Given the description of an element on the screen output the (x, y) to click on. 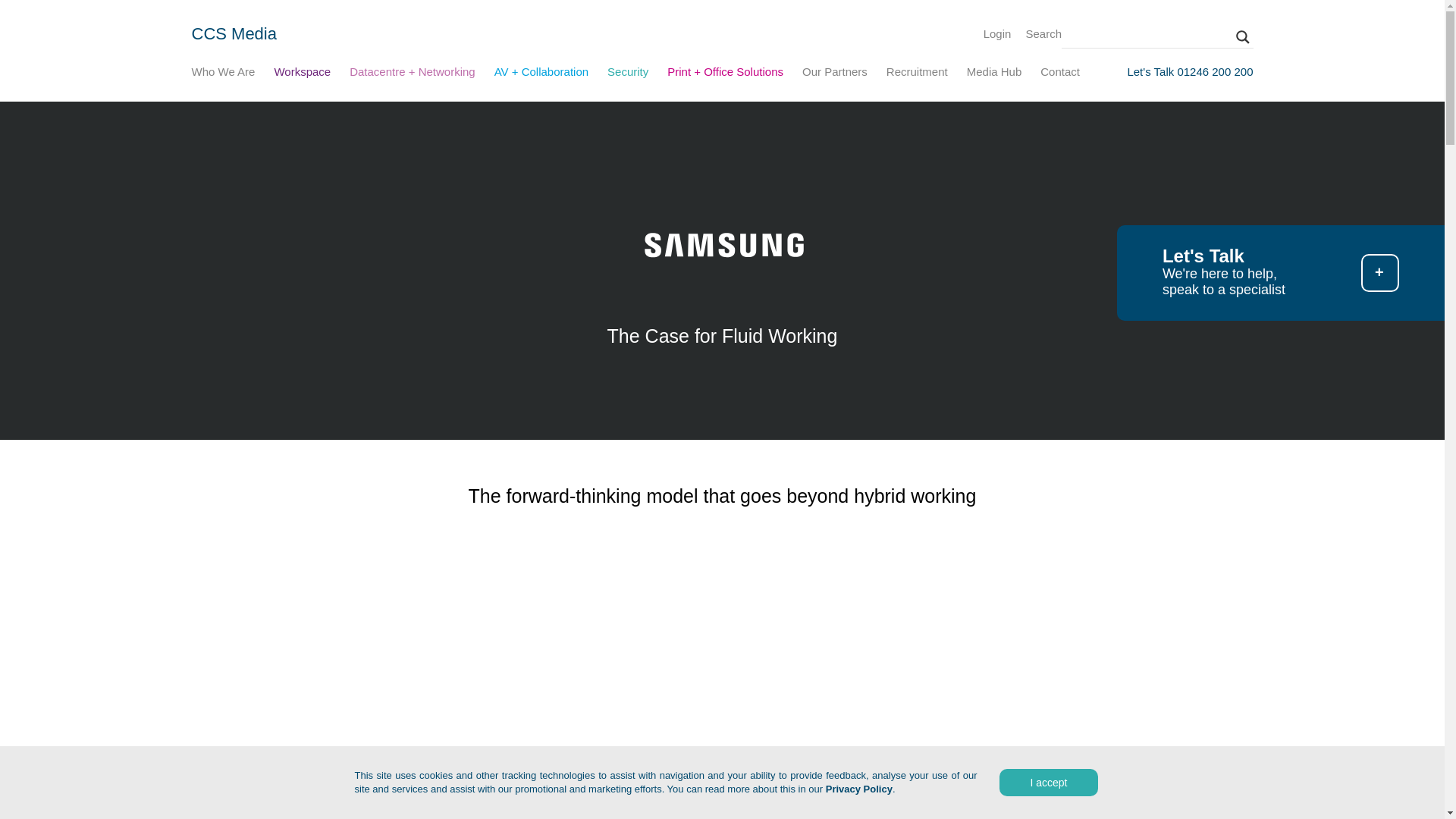
CCS Media (233, 33)
Workspace (301, 73)
Who We Are (222, 73)
Login (997, 33)
Security (627, 73)
Media Hub (994, 73)
Our Partners (834, 73)
Recruitment (916, 73)
